Given the description of an element on the screen output the (x, y) to click on. 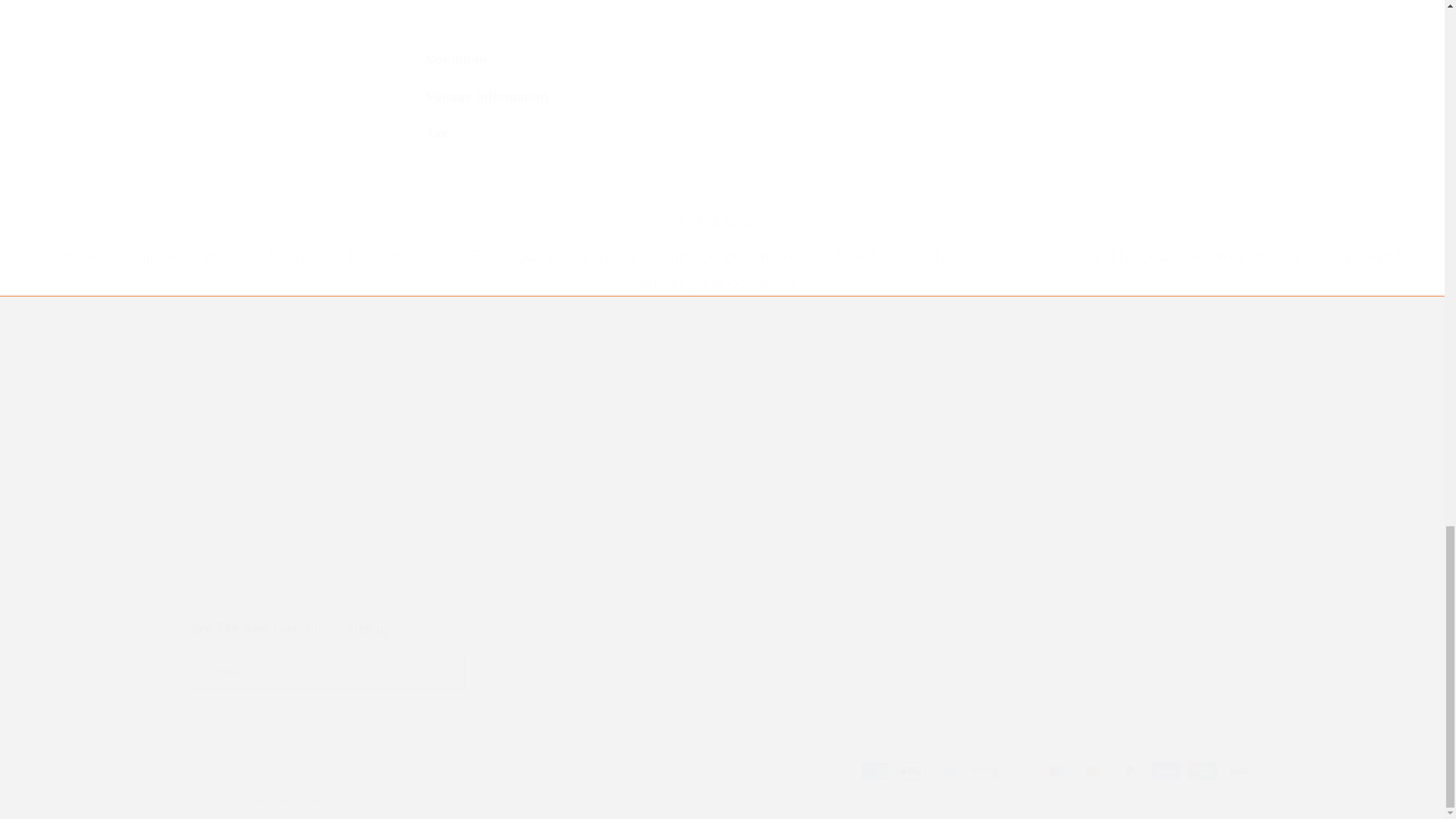
Condition (721, 60)
Tax (721, 134)
Voltage Information (721, 653)
